Given the description of an element on the screen output the (x, y) to click on. 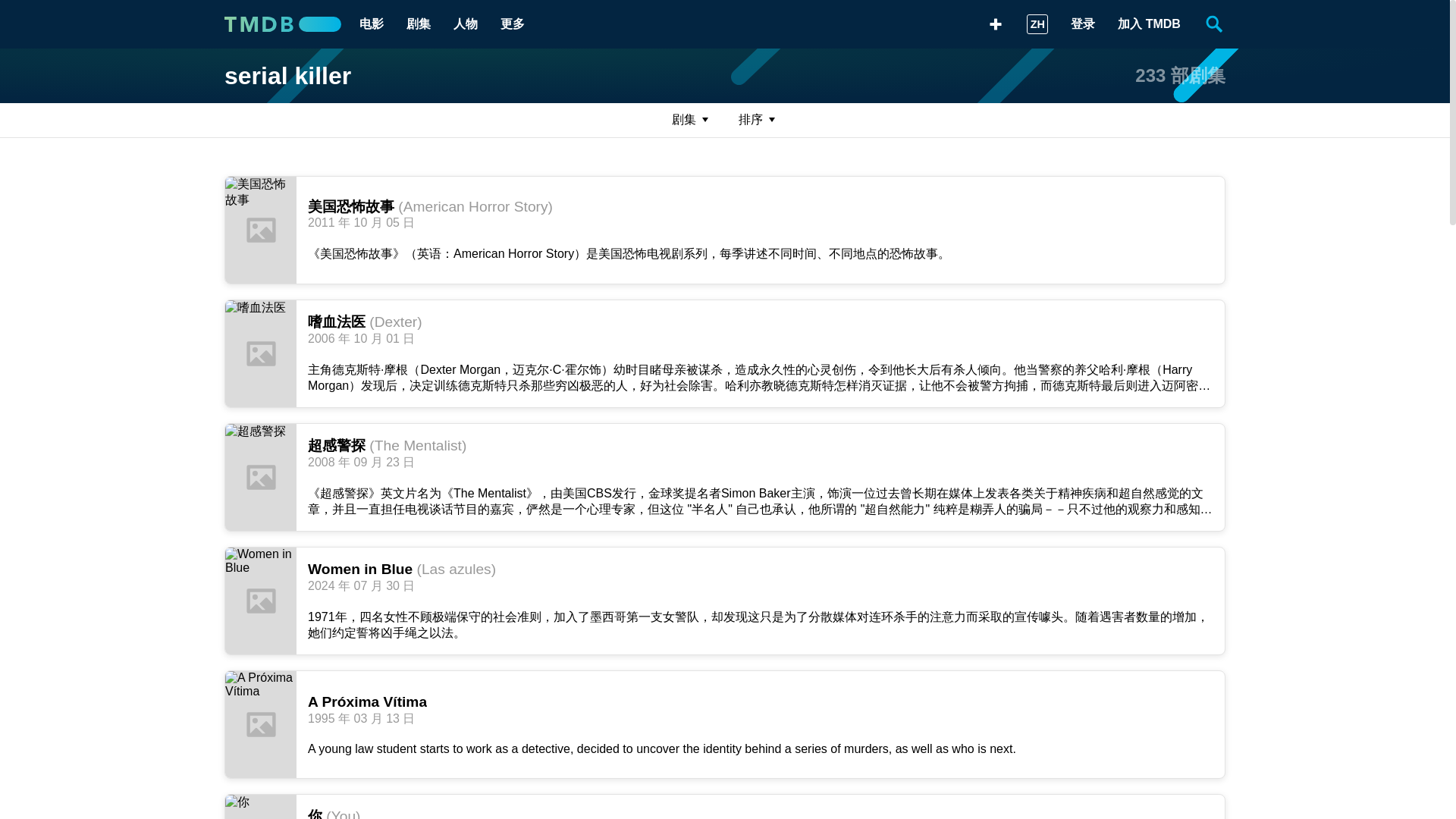
serial killer (287, 75)
